Given the description of an element on the screen output the (x, y) to click on. 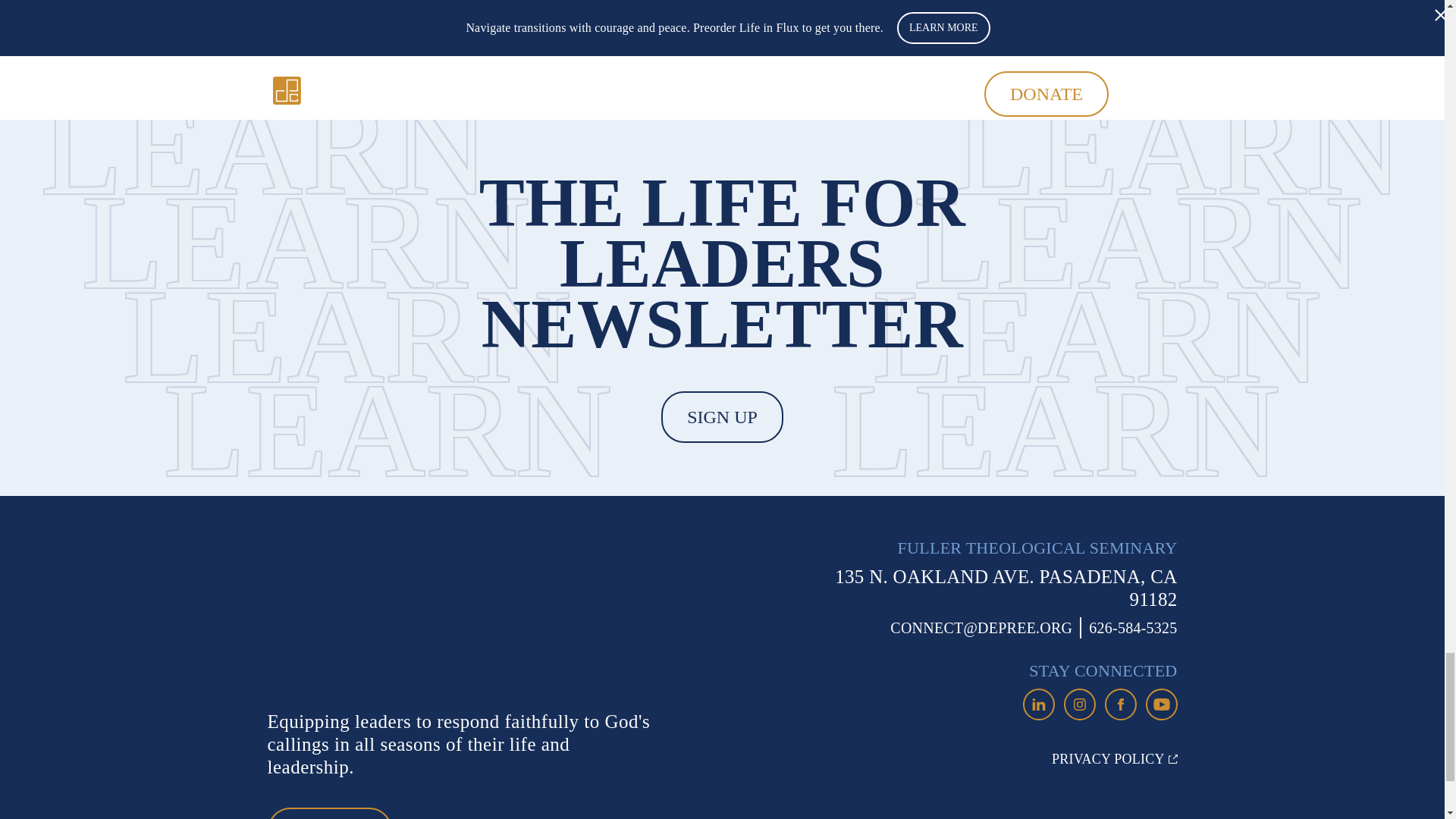
Return to Homepage (383, 615)
